Given the description of an element on the screen output the (x, y) to click on. 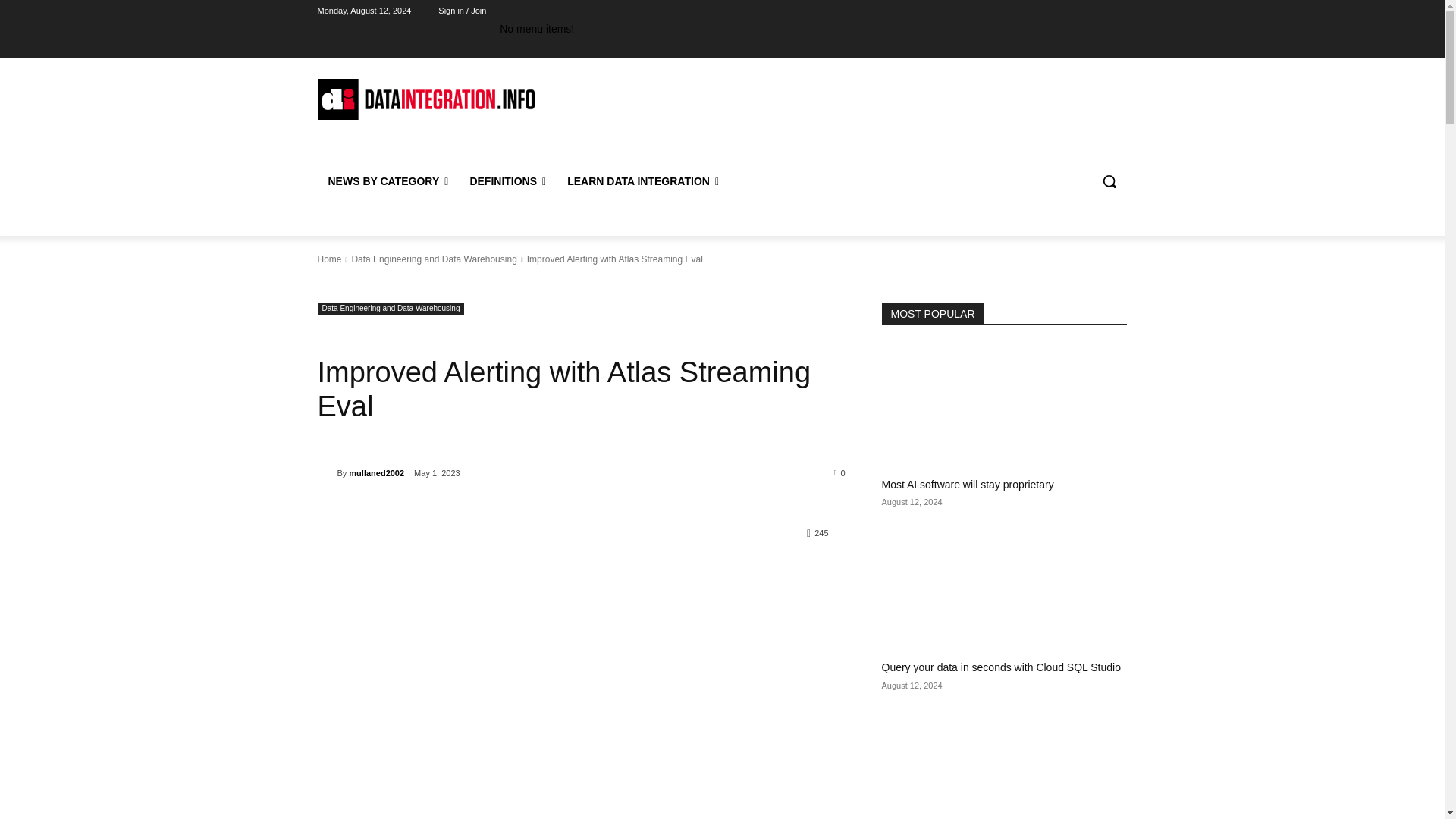
mullaned2002 (326, 473)
View all posts in Data Engineering and Data Warehousing (433, 258)
NEWS BY CATEGORY (387, 180)
